Given the description of an element on the screen output the (x, y) to click on. 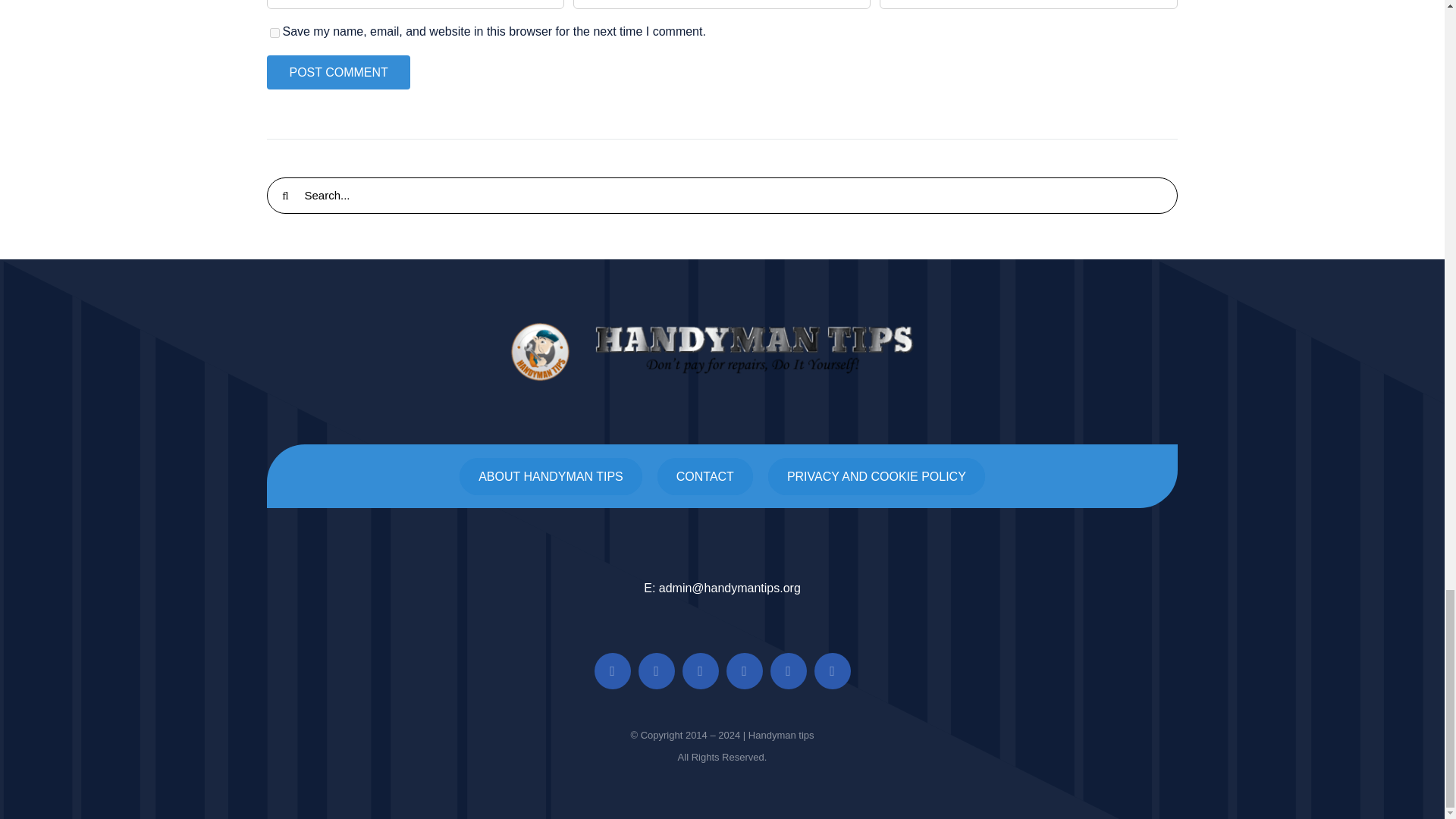
yes (274, 32)
Post Comment (337, 72)
PRIVACY AND COOKIE POLICY (876, 476)
Post Comment (337, 72)
ABOUT HANDYMAN TIPS (551, 476)
CONTACT (705, 476)
Handyman tips header new (721, 352)
